Given the description of an element on the screen output the (x, y) to click on. 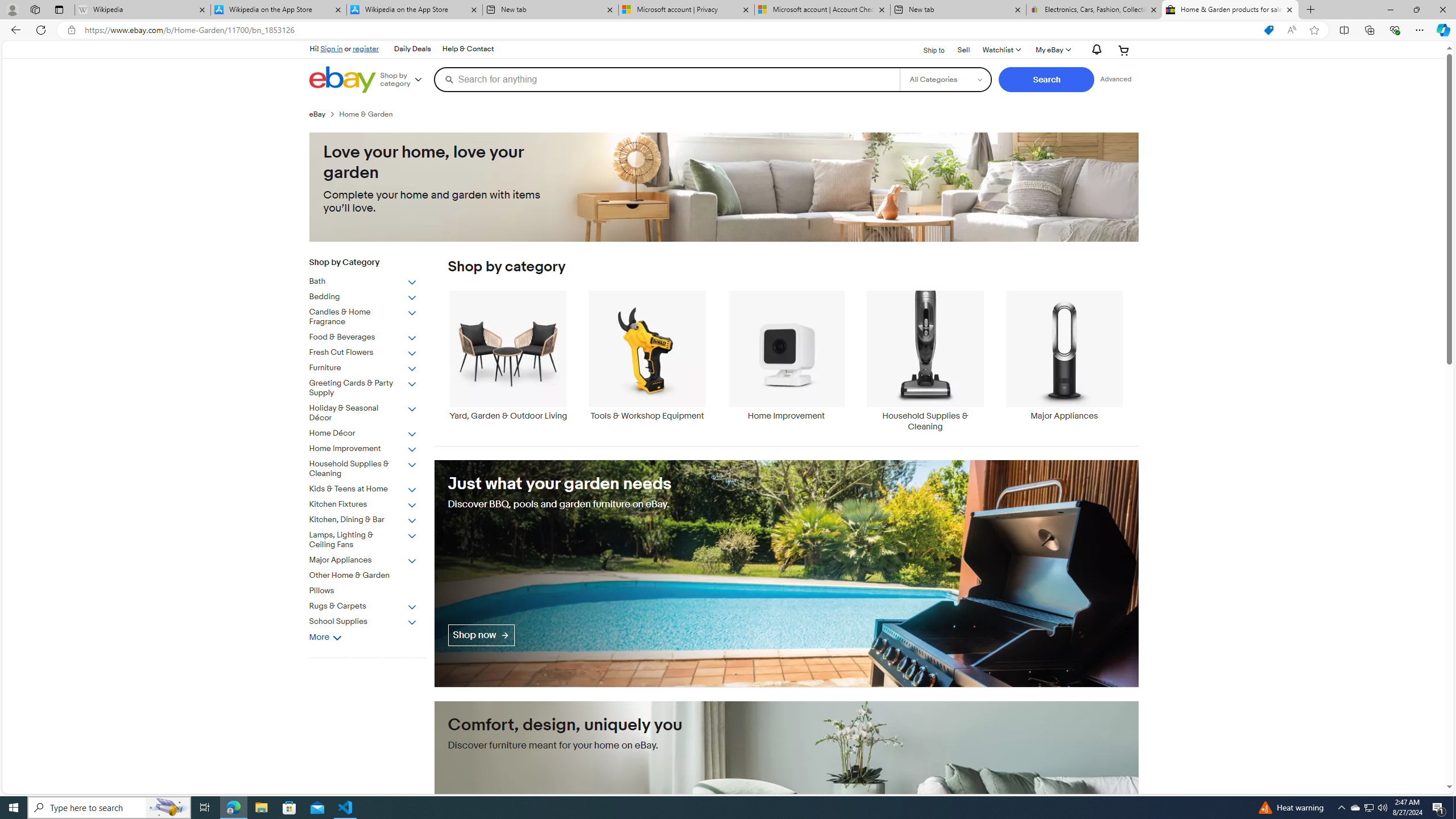
Kitchen Fixtures (371, 502)
Bedding (371, 294)
AutomationID: gh-eb-Alerts (1094, 49)
Food & Beverages (371, 335)
Other Home & Garden (362, 575)
Yard, Garden & Outdoor Living (508, 360)
Other Home & Garden (371, 573)
Kitchen Fixtures (362, 504)
Lamps, Lighting & Ceiling Fans (371, 537)
Expand Cart (1123, 49)
Read aloud this page (Ctrl+Shift+U) (1291, 29)
Refresh (40, 29)
Food & Beverages (362, 337)
